Given the description of an element on the screen output the (x, y) to click on. 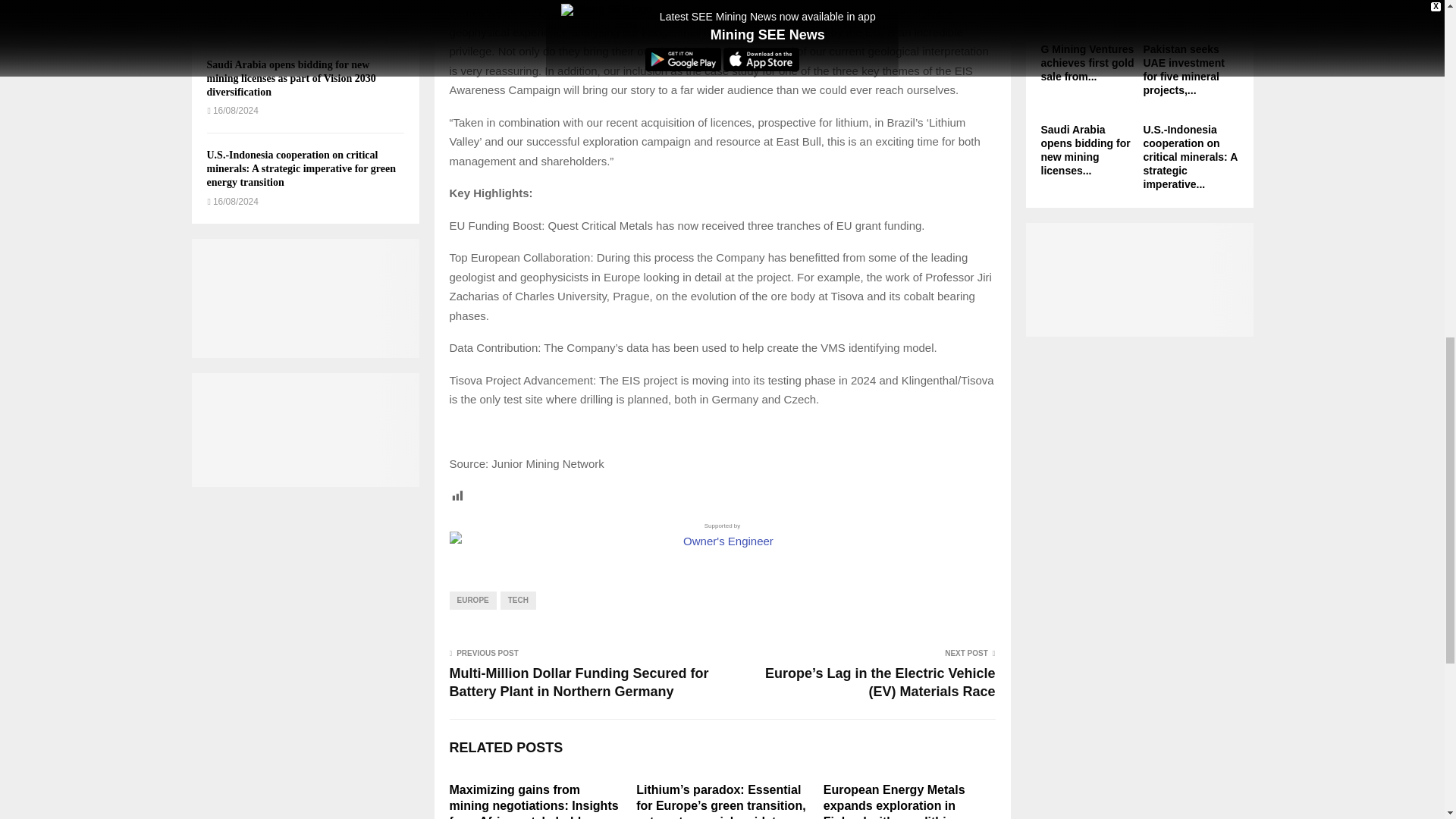
EUROPE (472, 600)
TECH (517, 600)
Supported by (721, 535)
